Given the description of an element on the screen output the (x, y) to click on. 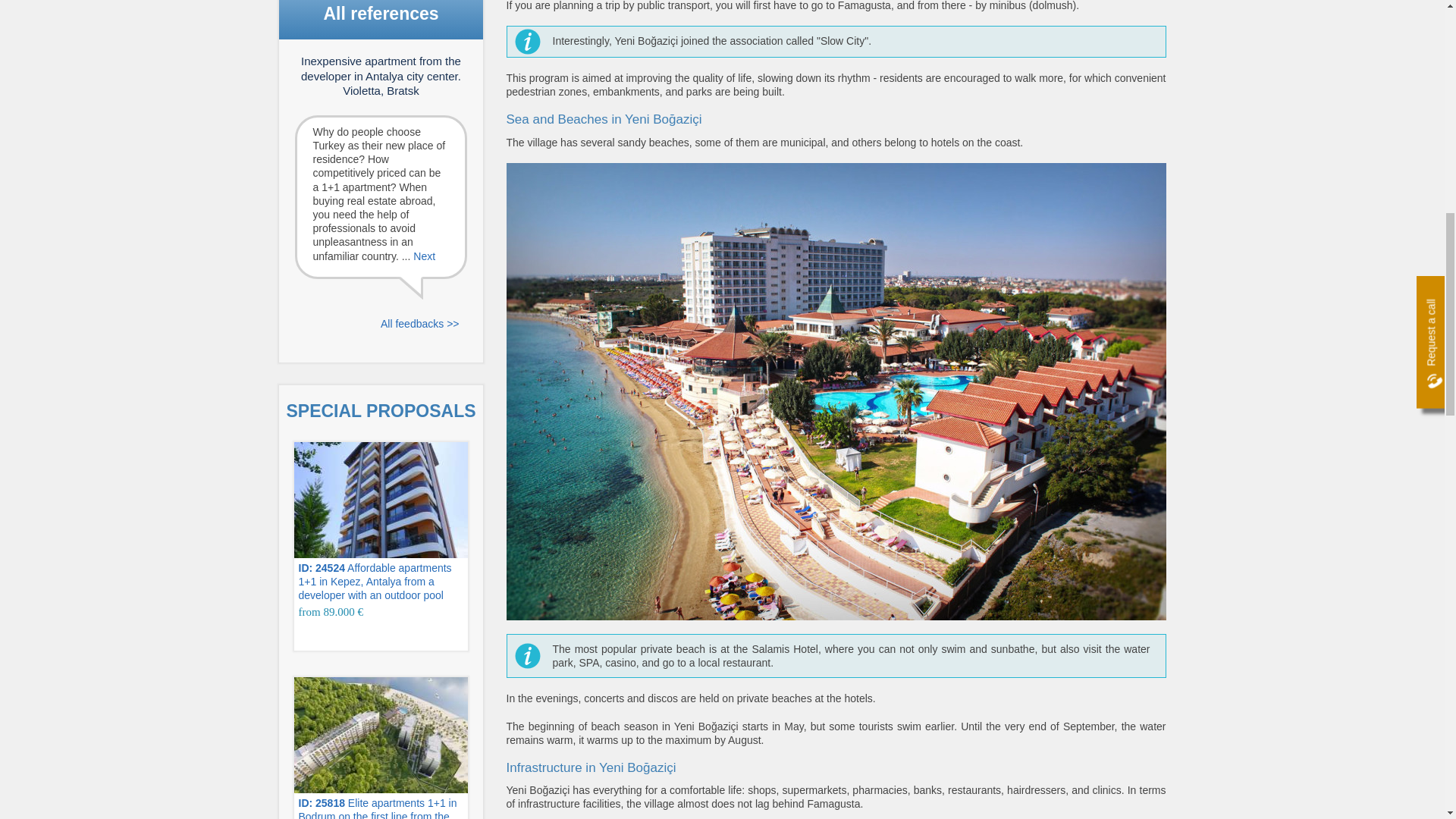
turkey real estate (381, 518)
property turkey (381, 748)
